Given the description of an element on the screen output the (x, y) to click on. 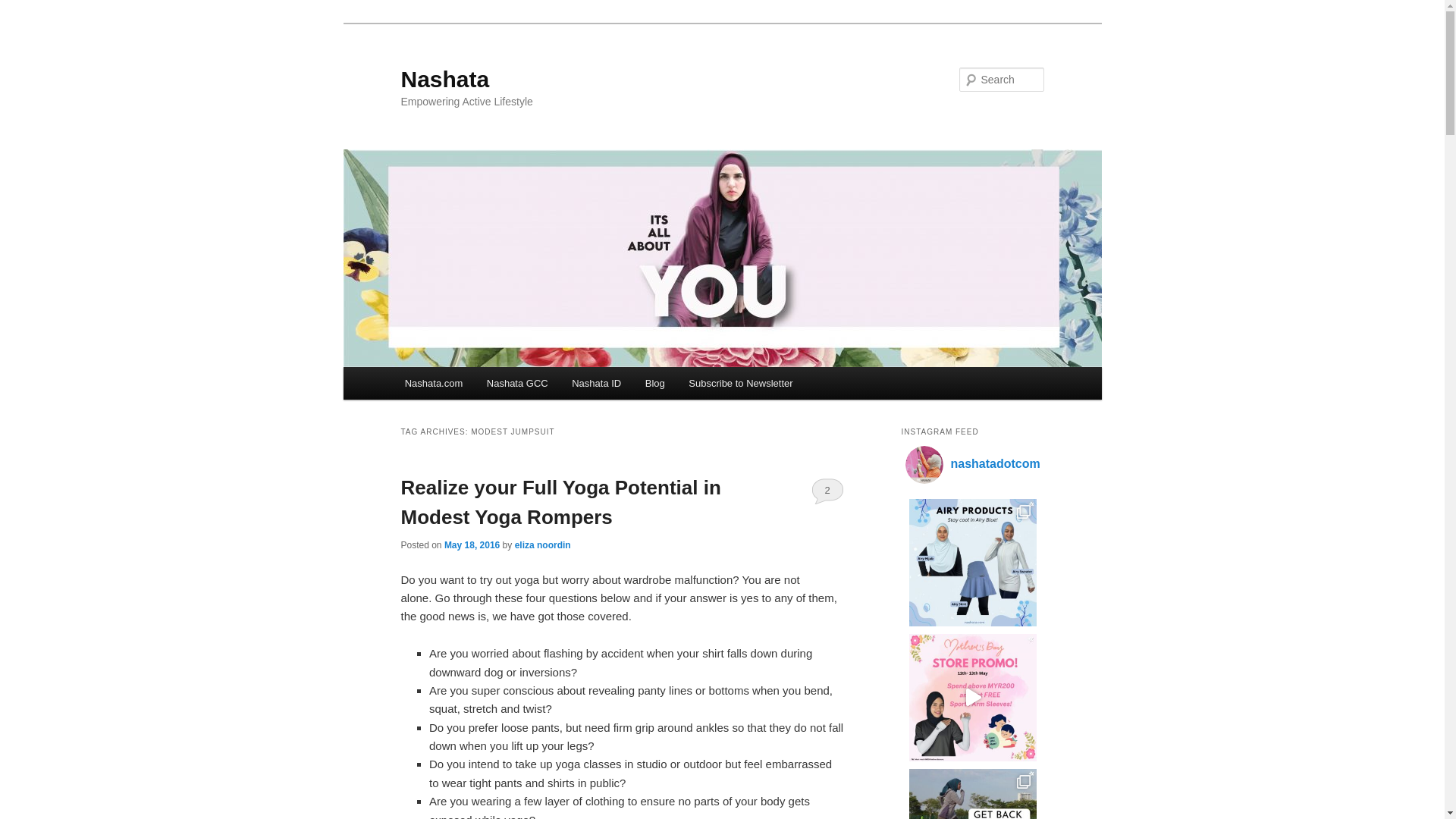
Nashata GCC (516, 382)
2 (827, 490)
Search (24, 8)
Nashata ID (596, 382)
Nashata (444, 78)
Realize your Full Yoga Potential in Modest Yoga Rompers (560, 501)
1:18 am (471, 544)
Subscribe to Newsletter (741, 382)
eliza noordin (542, 544)
Nashata.com (433, 382)
View all posts by eliza noordin (542, 544)
May 18, 2016 (471, 544)
Blog (655, 382)
